Given the description of an element on the screen output the (x, y) to click on. 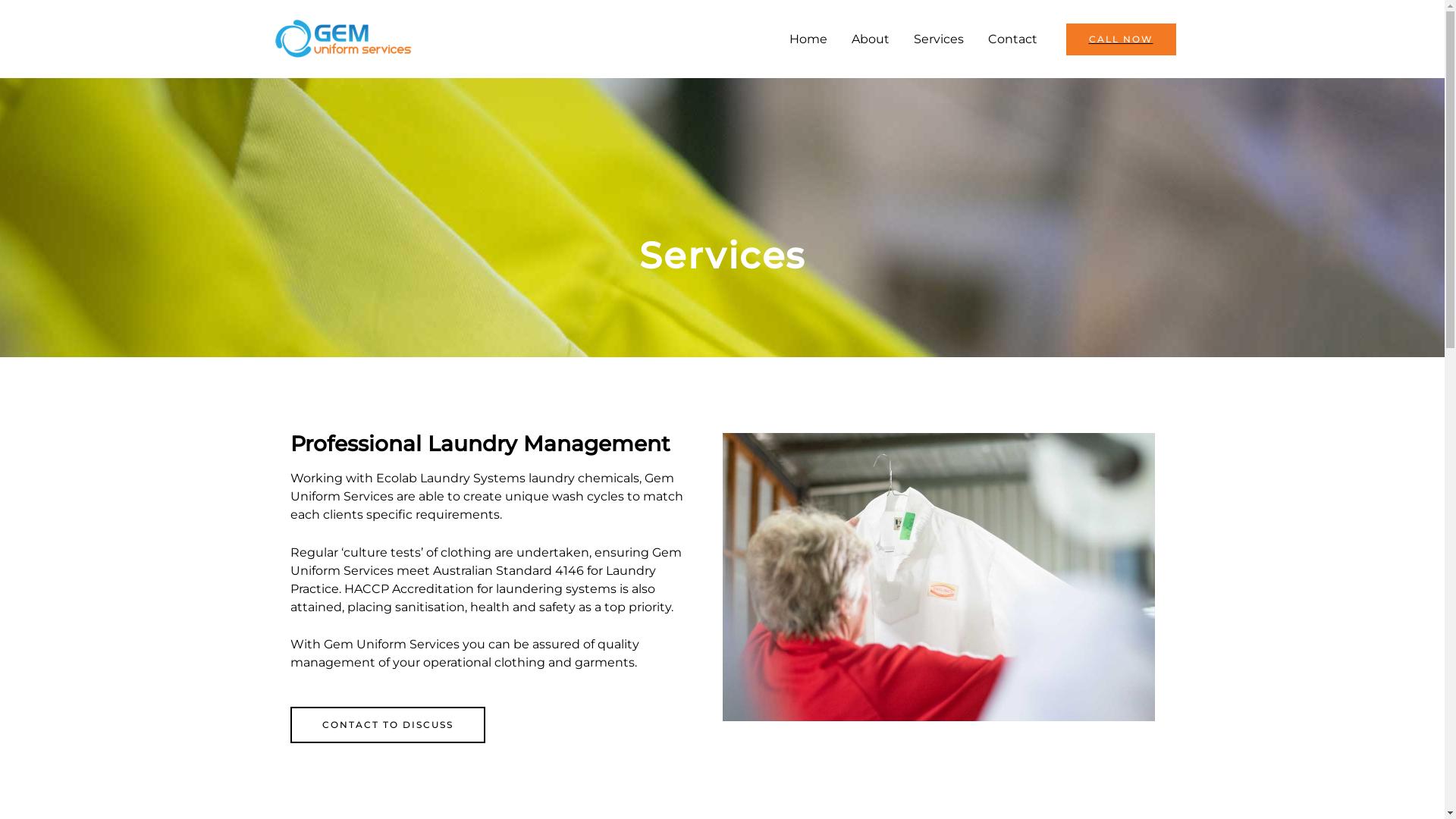
Home Element type: text (807, 38)
Contact Element type: text (1011, 38)
About Element type: text (869, 38)
Services Element type: text (937, 38)
CONTACT TO DISCUSS Element type: text (386, 724)
CALL NOW Element type: text (1120, 38)
